Given the description of an element on the screen output the (x, y) to click on. 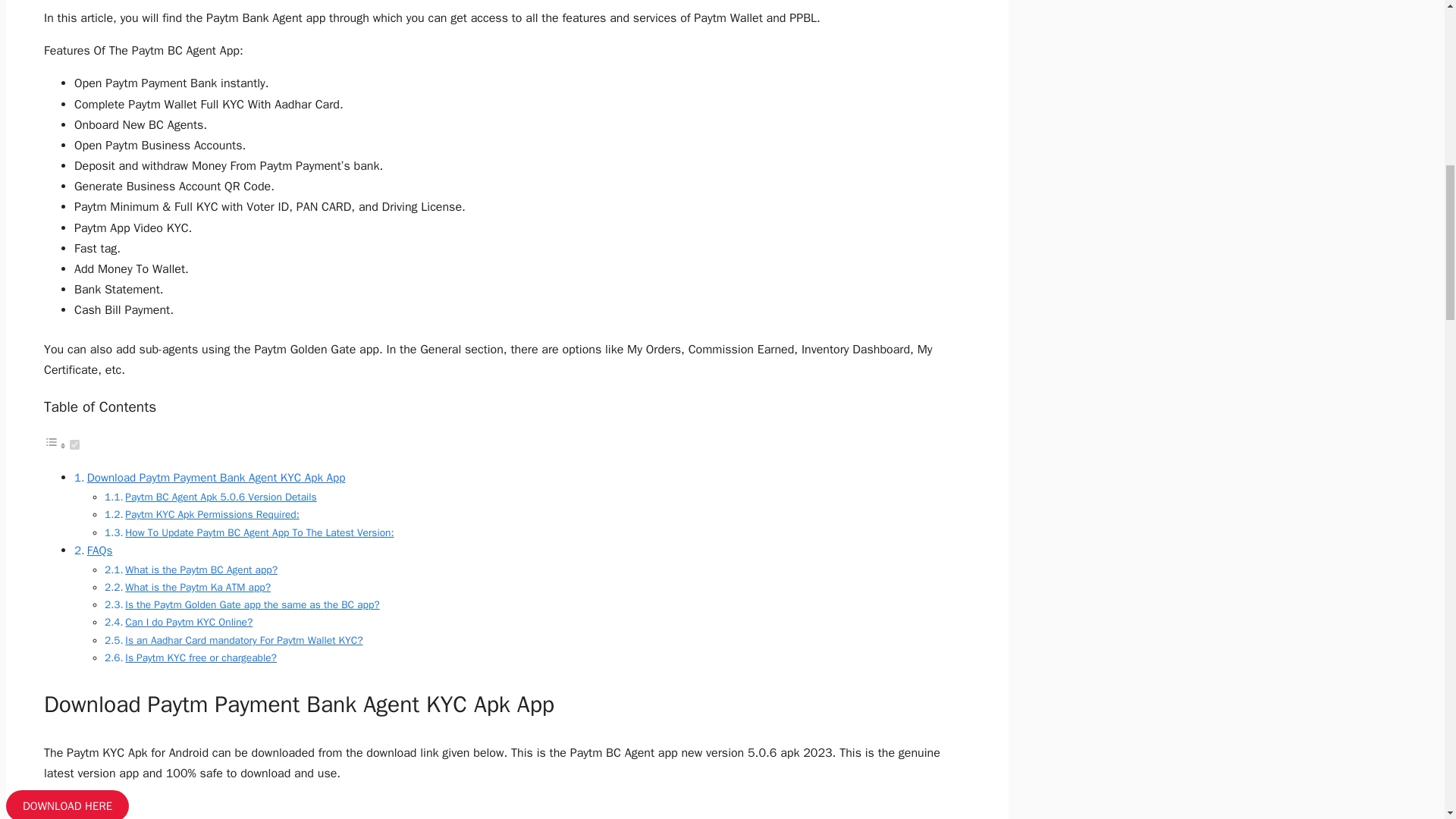
Is the Paytm Golden Gate app the same as the BC app? (251, 604)
FAQs (100, 549)
Paytm KYC Apk Permissions Required: (211, 513)
Paytm BC Agent Apk 5.0.6 Version Details (220, 496)
Download Paytm Payment Bank Agent KYC Apk App (216, 477)
Is an Aadhar Card mandatory For Paytm Wallet KYC? (243, 640)
Download Paytm Payment Bank Agent KYC Apk App (216, 477)
Can I do Paytm KYC Online? (188, 621)
What is the Paytm BC Agent app? (201, 569)
Paytm KYC Apk Permissions Required: (211, 513)
